Given the description of an element on the screen output the (x, y) to click on. 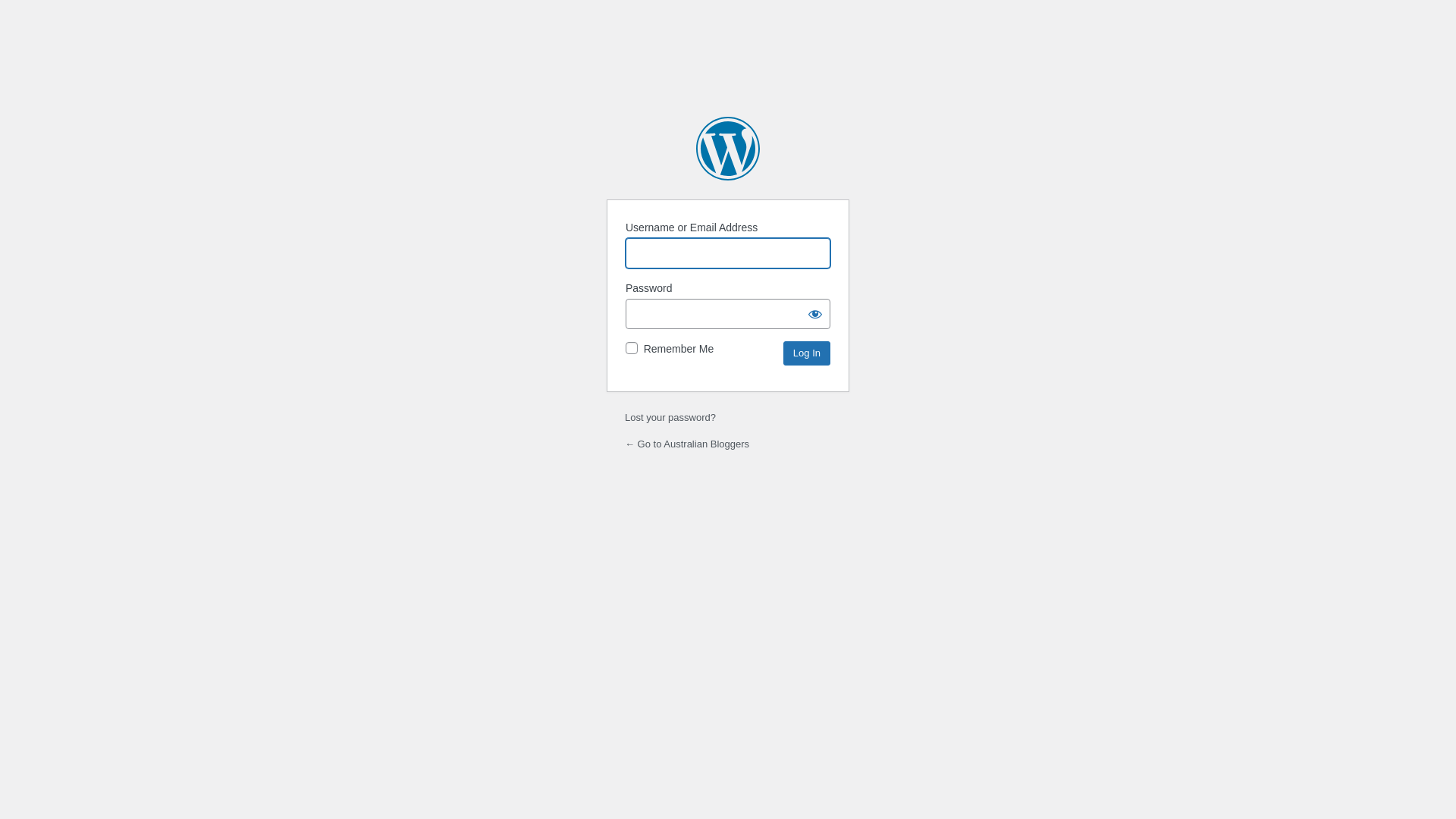
Log In Element type: text (806, 353)
Lost your password? Element type: text (669, 417)
Powered by WordPress Element type: text (727, 148)
